Given the description of an element on the screen output the (x, y) to click on. 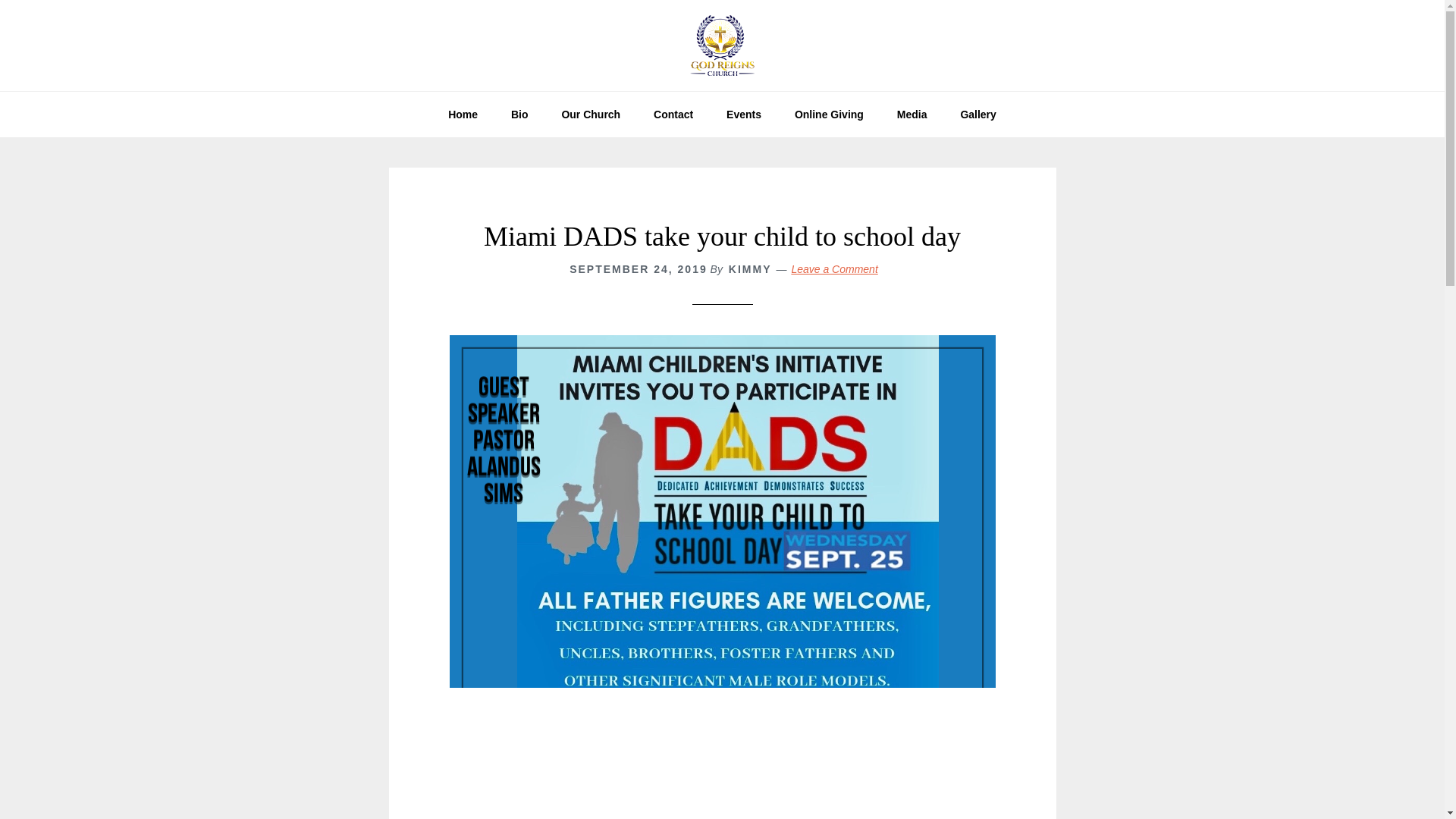
Our Church (590, 114)
KIMMY (750, 268)
Gallery (977, 114)
Online Giving (828, 114)
Bio (519, 114)
God Reigns Church (721, 45)
Events (743, 114)
Contact (673, 114)
Media (912, 114)
Home (462, 114)
Leave a Comment (833, 268)
